Given the description of an element on the screen output the (x, y) to click on. 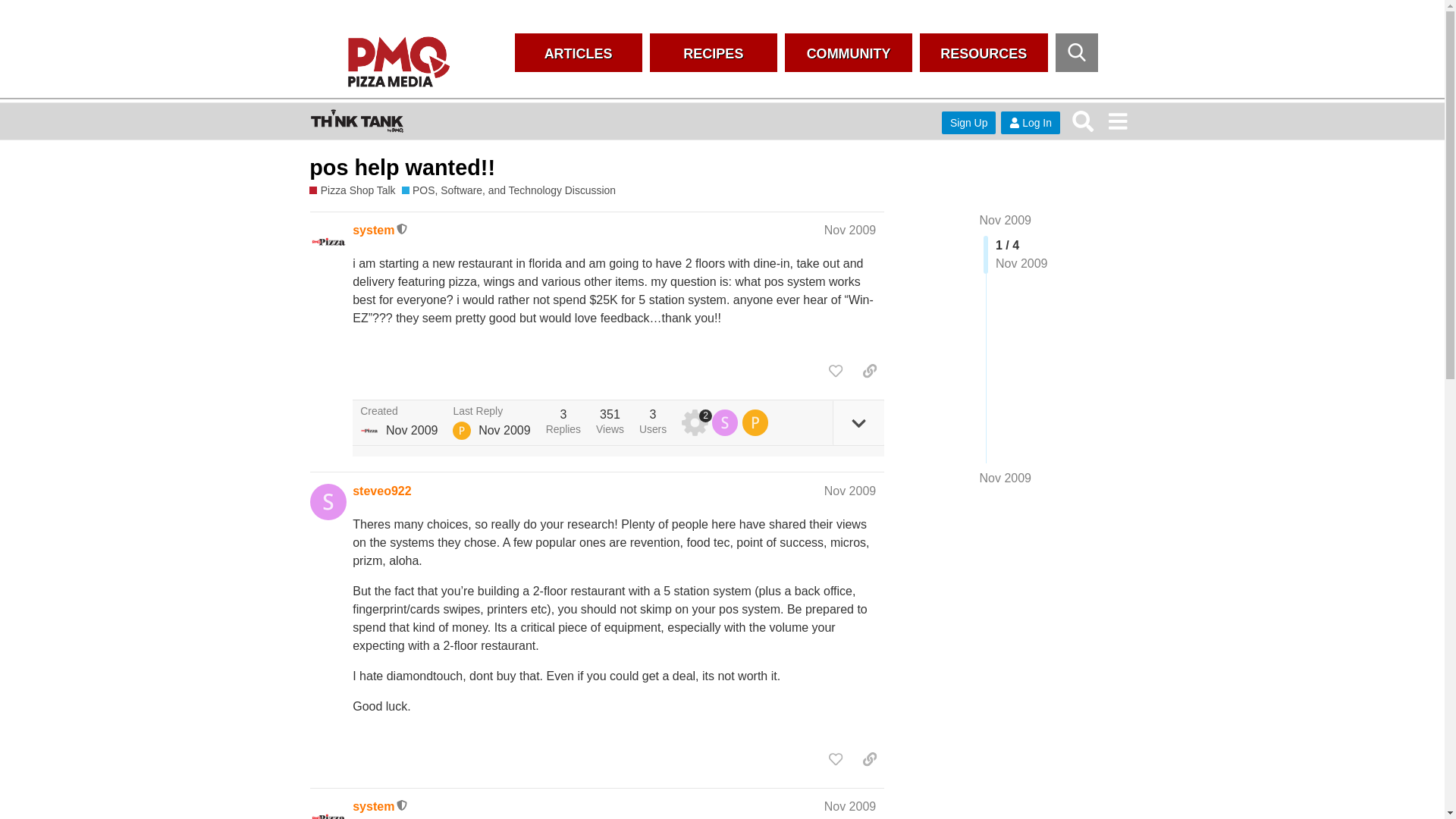
Nov 2009 (1005, 219)
Jump to the last post (1005, 477)
Pizza Shop Talk (351, 189)
steveo922 (381, 491)
Last Reply (490, 411)
Log In (1030, 122)
2 (696, 421)
RECIPES (713, 52)
pos help wanted!! (401, 167)
Nov 2009 (850, 490)
expand topic details (857, 422)
Nov 10, 2009 4:02 am (411, 430)
system (368, 430)
Nov 19, 2009 1:47 am (505, 430)
